Given the description of an element on the screen output the (x, y) to click on. 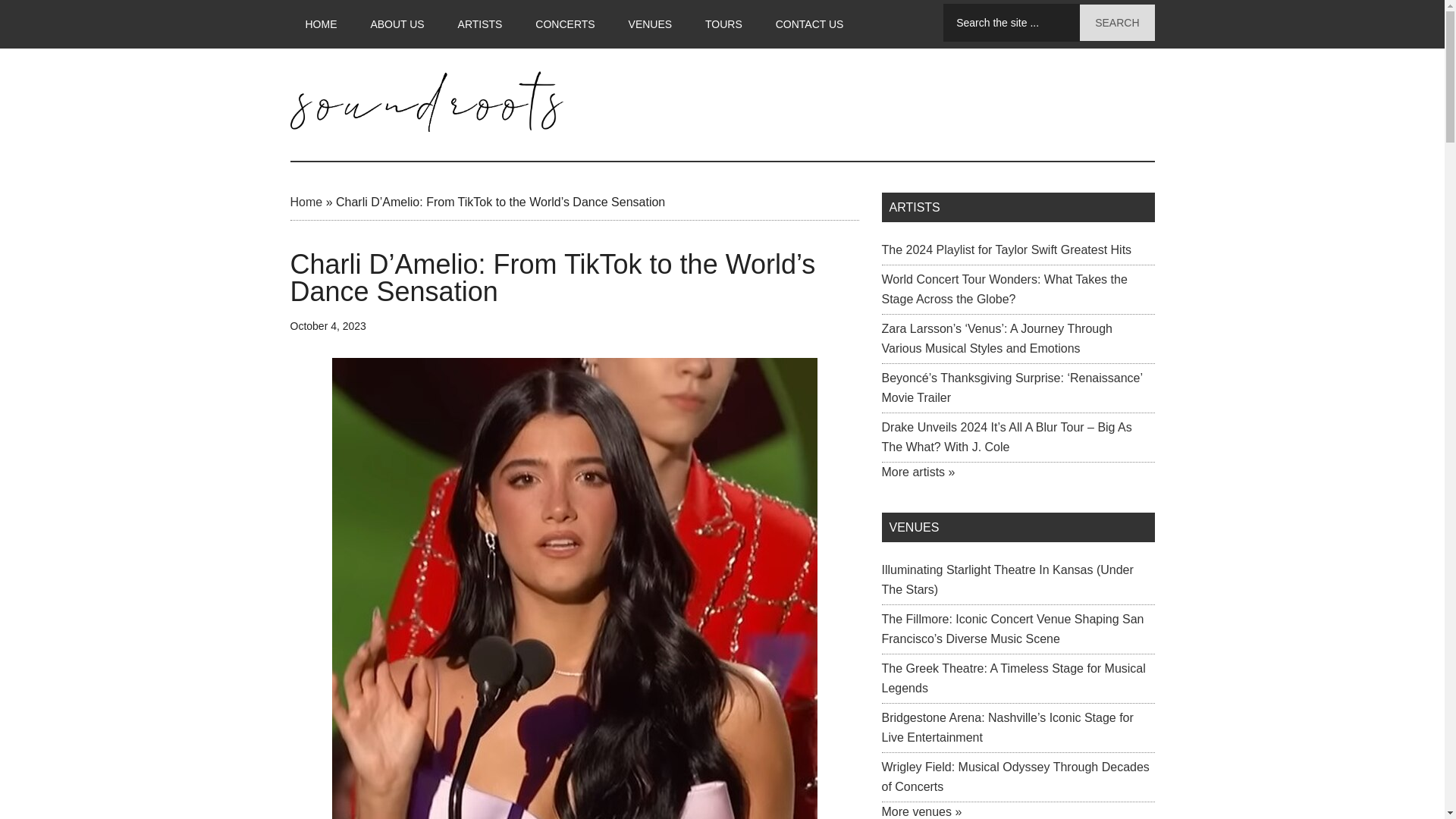
VENUES (649, 24)
ABOUT US (397, 24)
Home (305, 201)
HOME (320, 24)
The Greek Theatre: A Timeless Stage for Musical Legends (1012, 677)
Search (1117, 22)
CONCERTS (564, 24)
TOURS (723, 24)
CONTACT US (809, 24)
Search (1117, 22)
Search (1117, 22)
ARTISTS (480, 24)
Wrigley Field: Musical Odyssey Through Decades of Concerts (1014, 776)
The 2024 Playlist for Taylor Swift Greatest Hits (1005, 249)
